Given the description of an element on the screen output the (x, y) to click on. 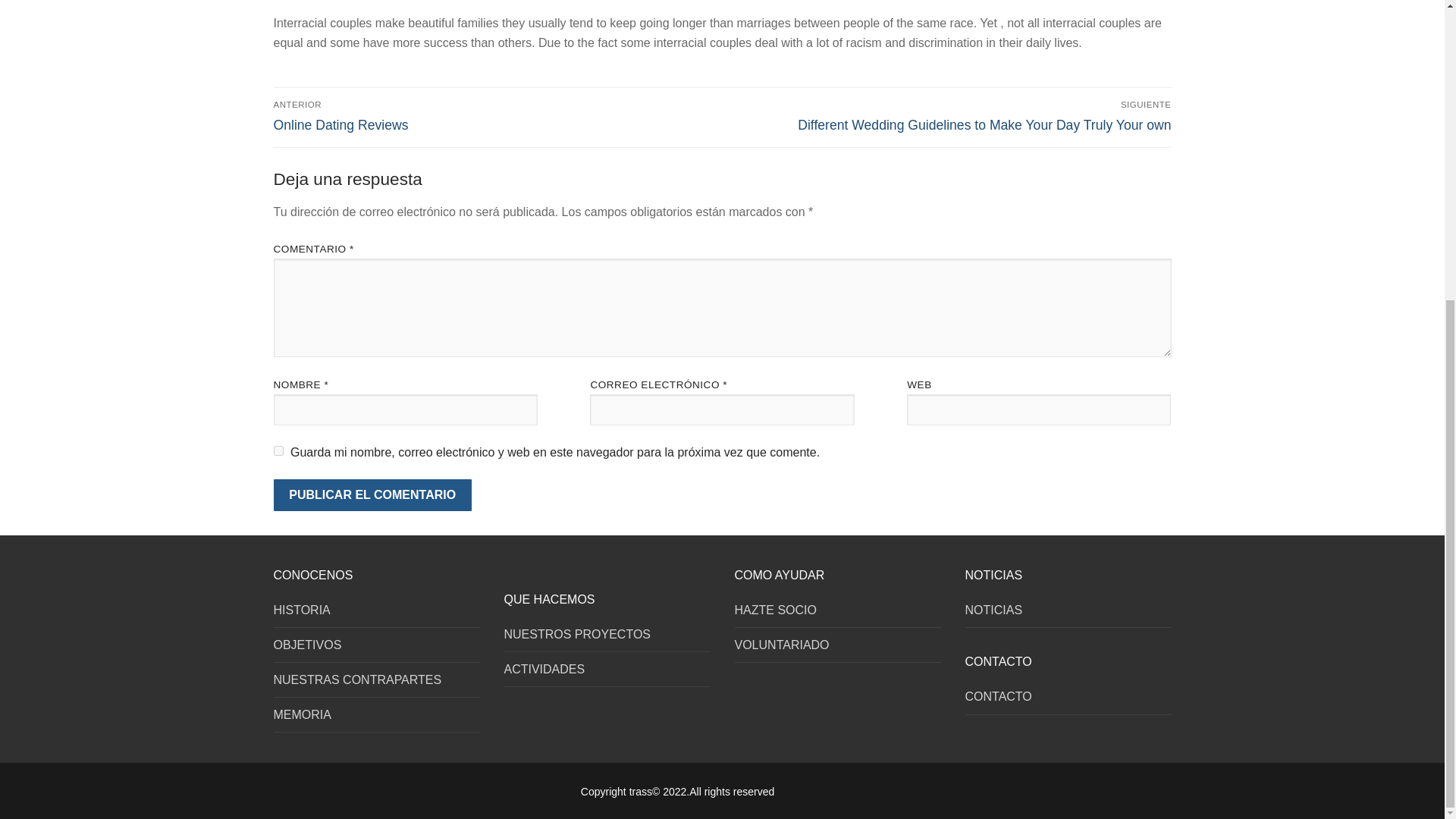
NUESTRAS CONTRAPARTES (376, 683)
OBJETIVOS (376, 648)
ACTIVIDADES (606, 673)
Publicar el comentario (371, 495)
HAZTE SOCIO (836, 614)
NUESTROS PROYECTOS (606, 637)
HISTORIA (376, 614)
yes (277, 450)
MEMORIA (376, 718)
